Given the description of an element on the screen output the (x, y) to click on. 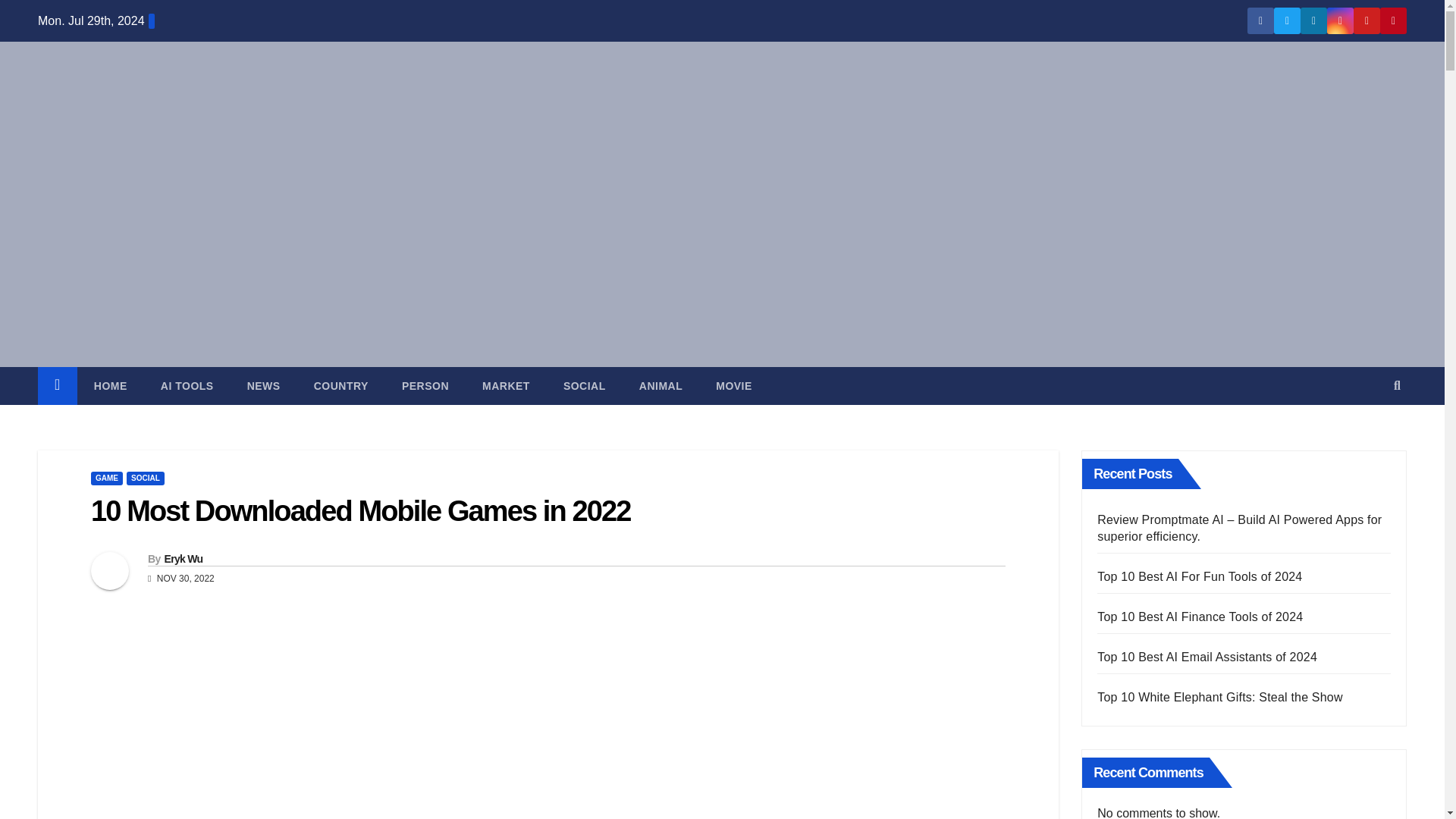
SOCIAL (585, 385)
SOCIAL (145, 478)
ANIMAL (660, 385)
AI Tools (187, 385)
Person (425, 385)
10 Most Downloaded Mobile Games in 2022 (360, 511)
COUNTRY (341, 385)
Permalink to: 10 Most Downloaded Mobile Games in 2022 (360, 511)
Eryk Wu (182, 558)
MARKET (506, 385)
NEWS (263, 385)
HOME (110, 385)
Country (341, 385)
News (263, 385)
MOVIE (733, 385)
